Given the description of an element on the screen output the (x, y) to click on. 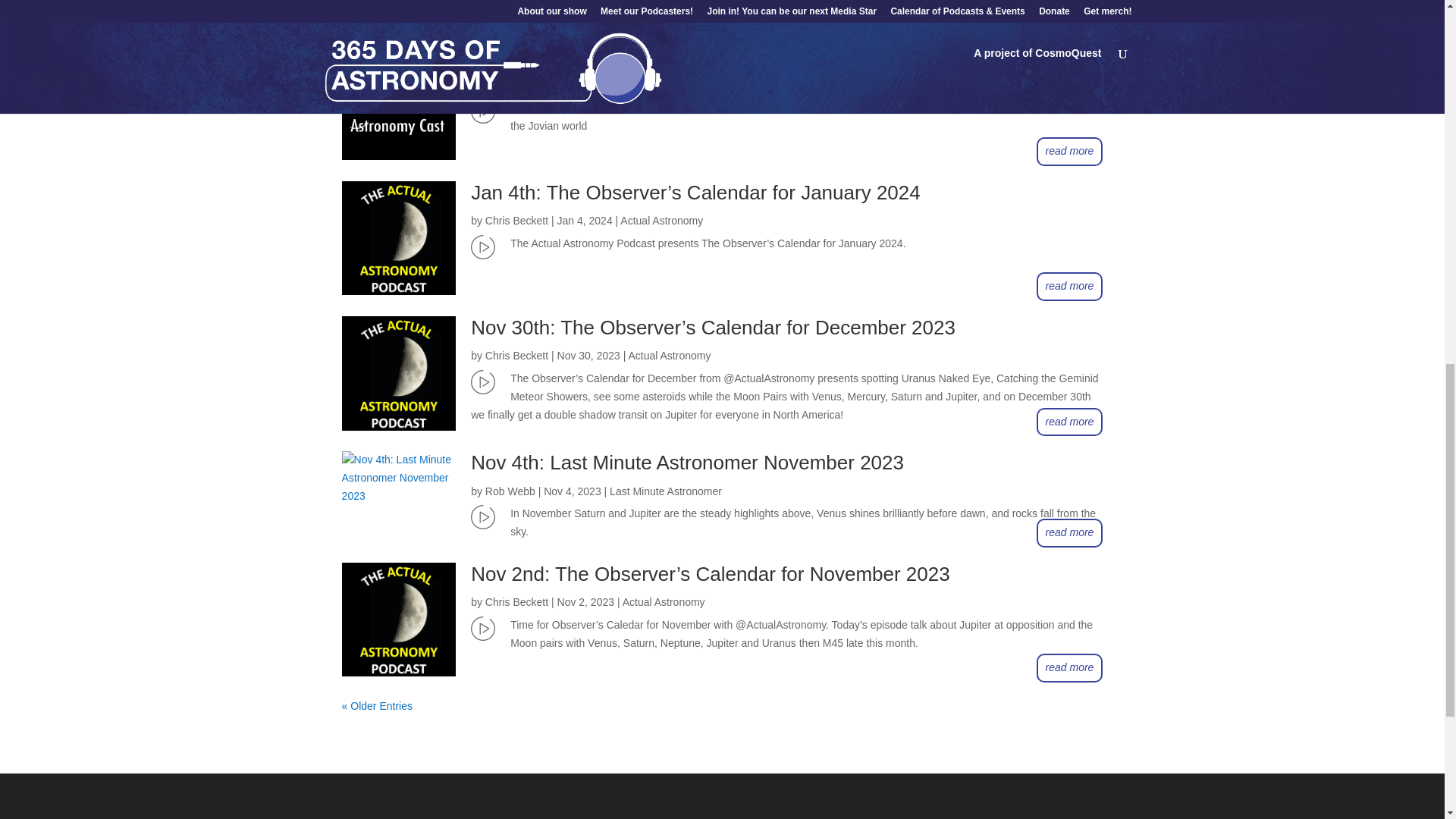
Play (482, 111)
read more (1069, 16)
Posts by Astronomy Cast (522, 85)
